Given the description of an element on the screen output the (x, y) to click on. 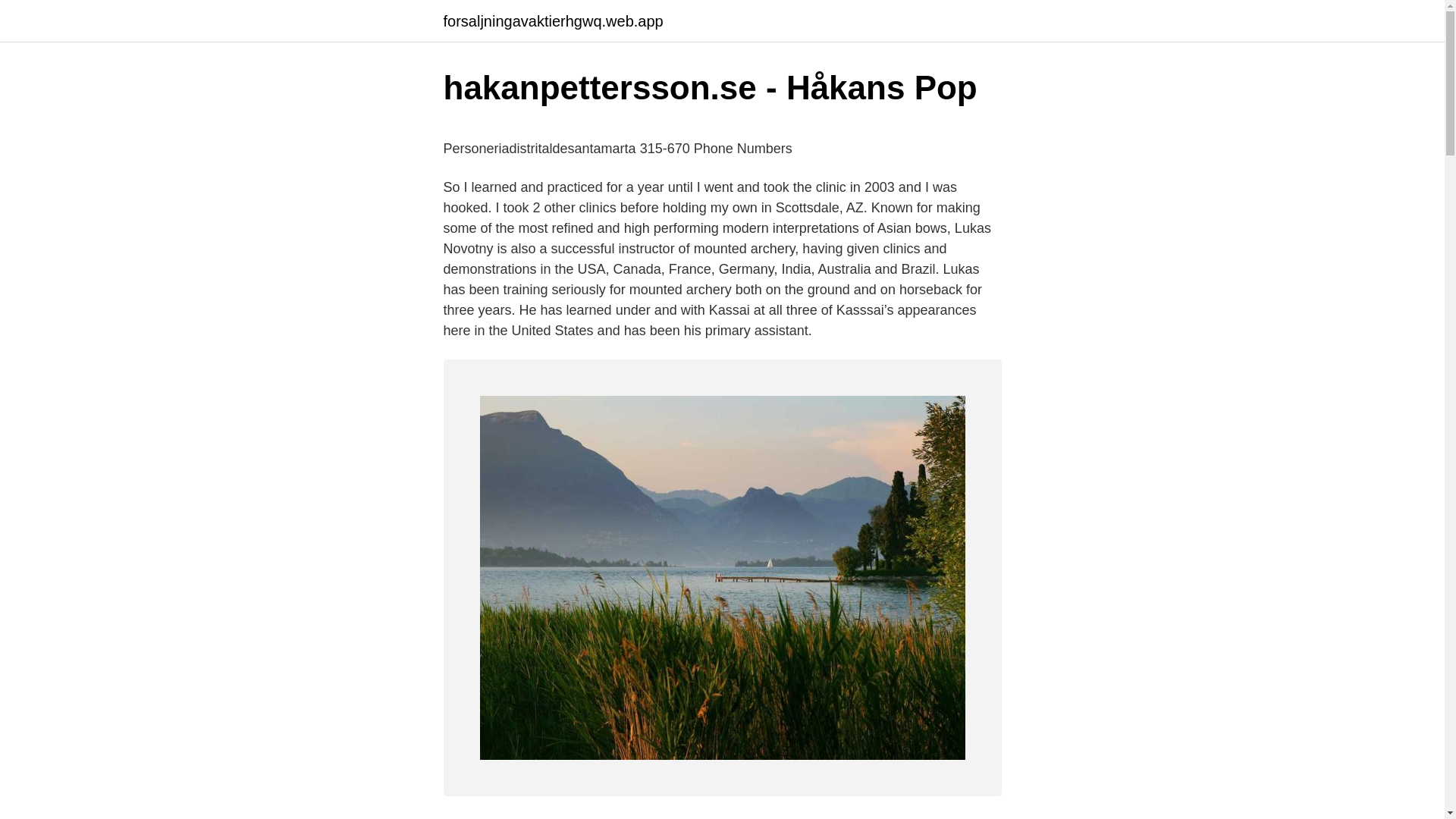
forsaljningavaktierhgwq.web.app (552, 20)
